Given the description of an element on the screen output the (x, y) to click on. 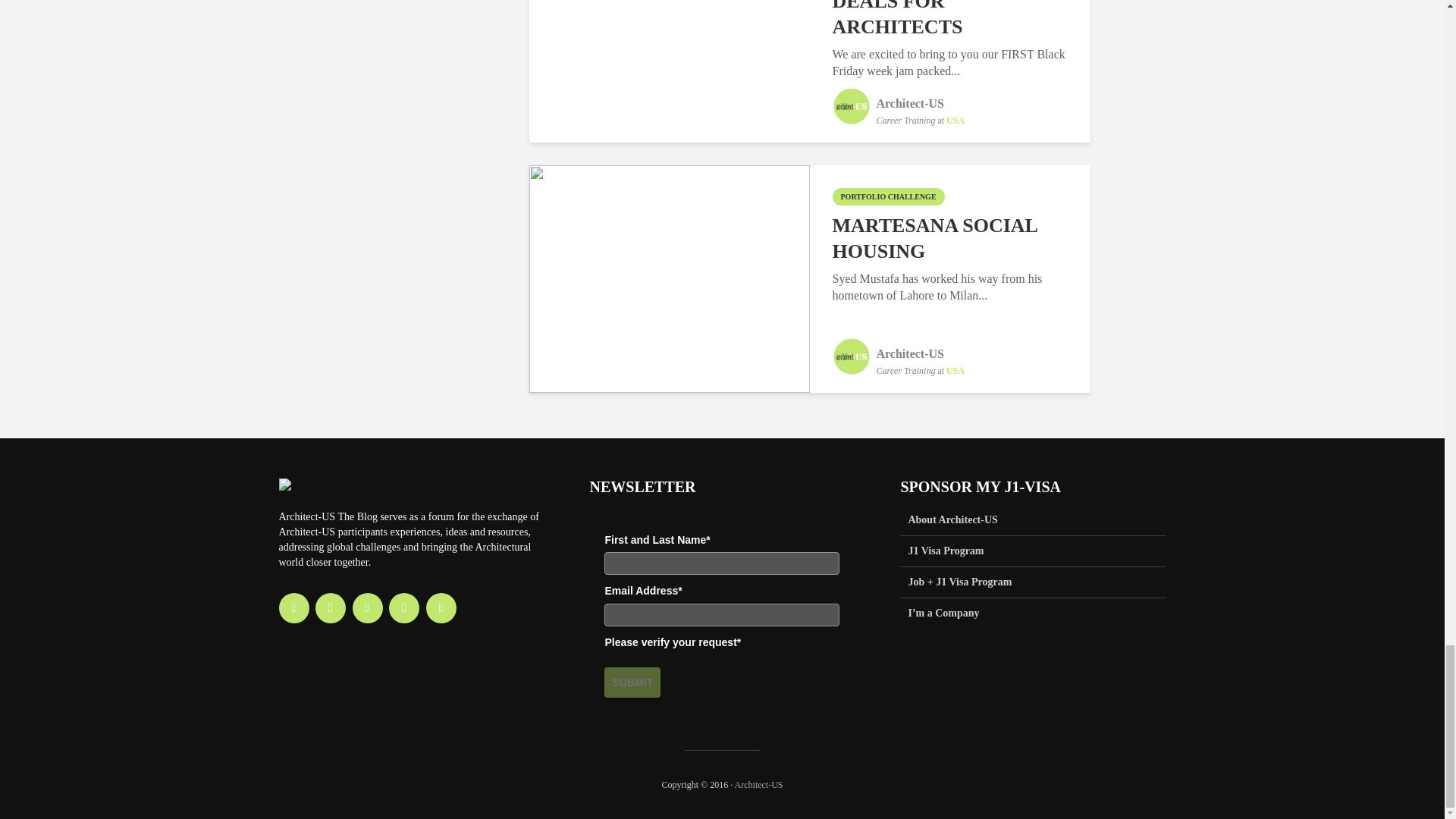
YouTube (403, 607)
Linkedin (366, 607)
Martesana Social Housing (669, 277)
Facebook (293, 607)
Instagram (330, 607)
Mail (441, 607)
